Given the description of an element on the screen output the (x, y) to click on. 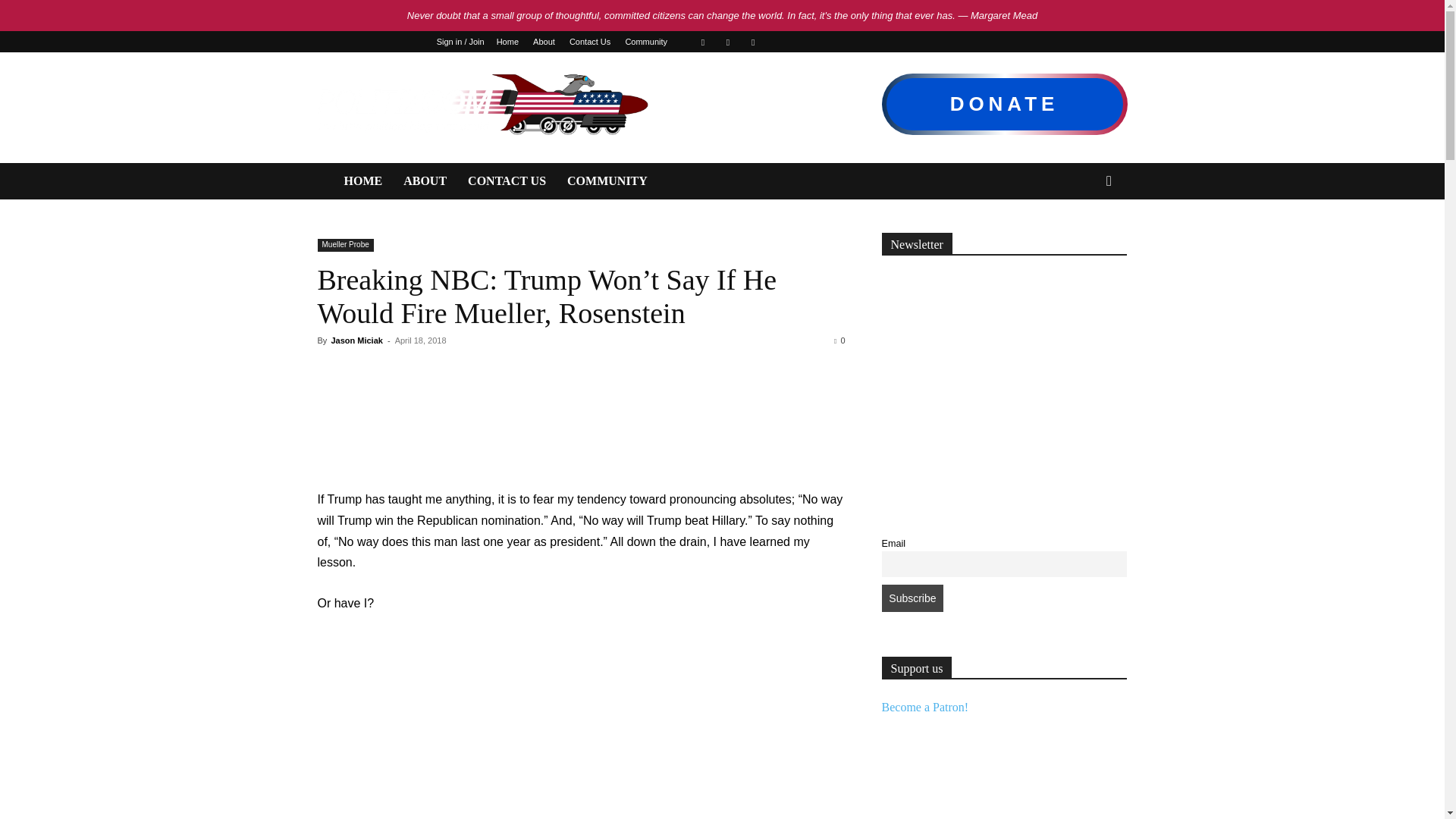
Search (1085, 241)
Subscribe (911, 597)
Contact Us (589, 40)
0 (839, 339)
COMMUNITY (607, 180)
Facebook (702, 41)
Home (507, 40)
Community (645, 40)
Twitter (727, 41)
Mueller Probe (344, 245)
